Given the description of an element on the screen output the (x, y) to click on. 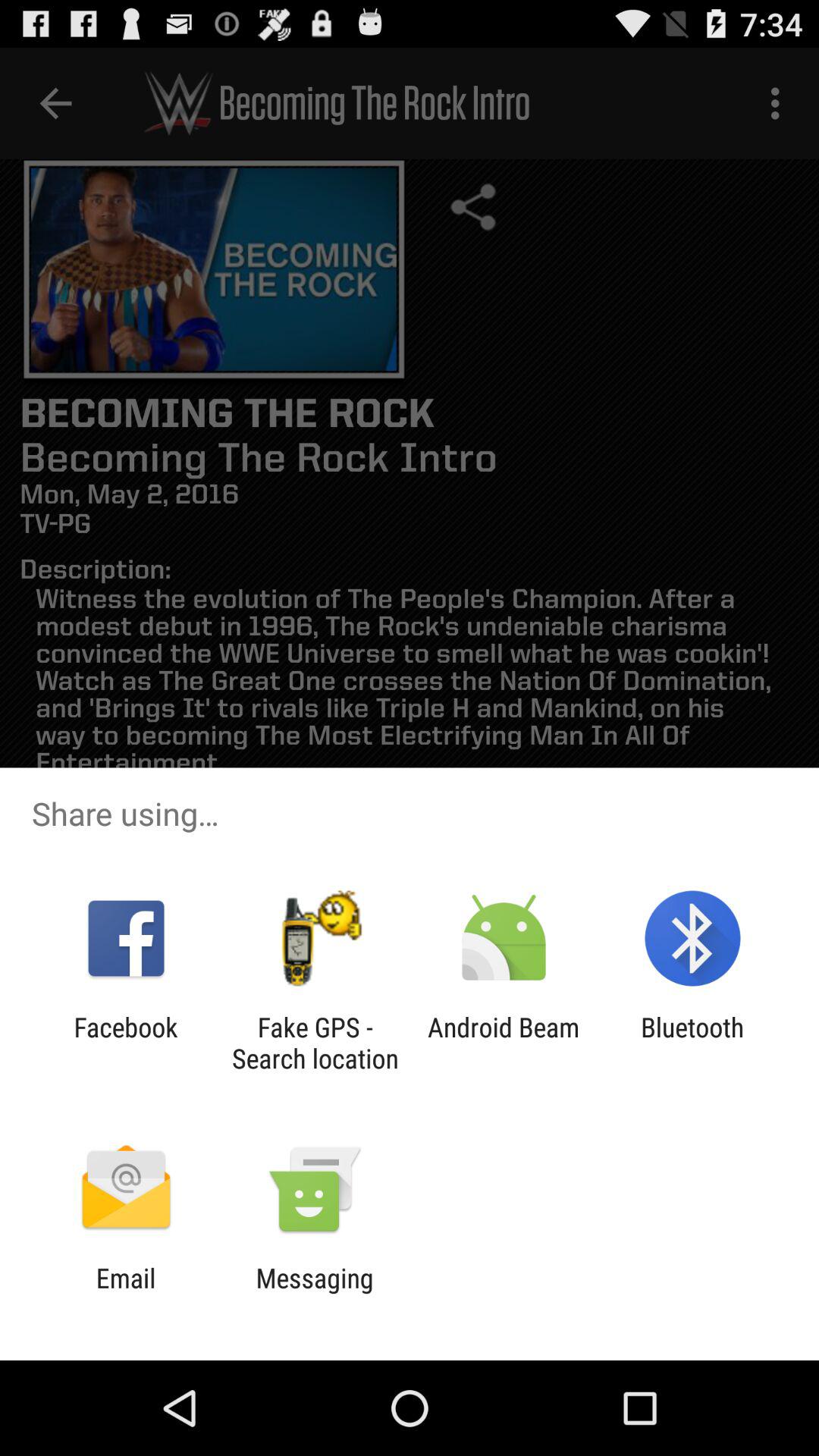
tap item next to the bluetooth app (503, 1042)
